Given the description of an element on the screen output the (x, y) to click on. 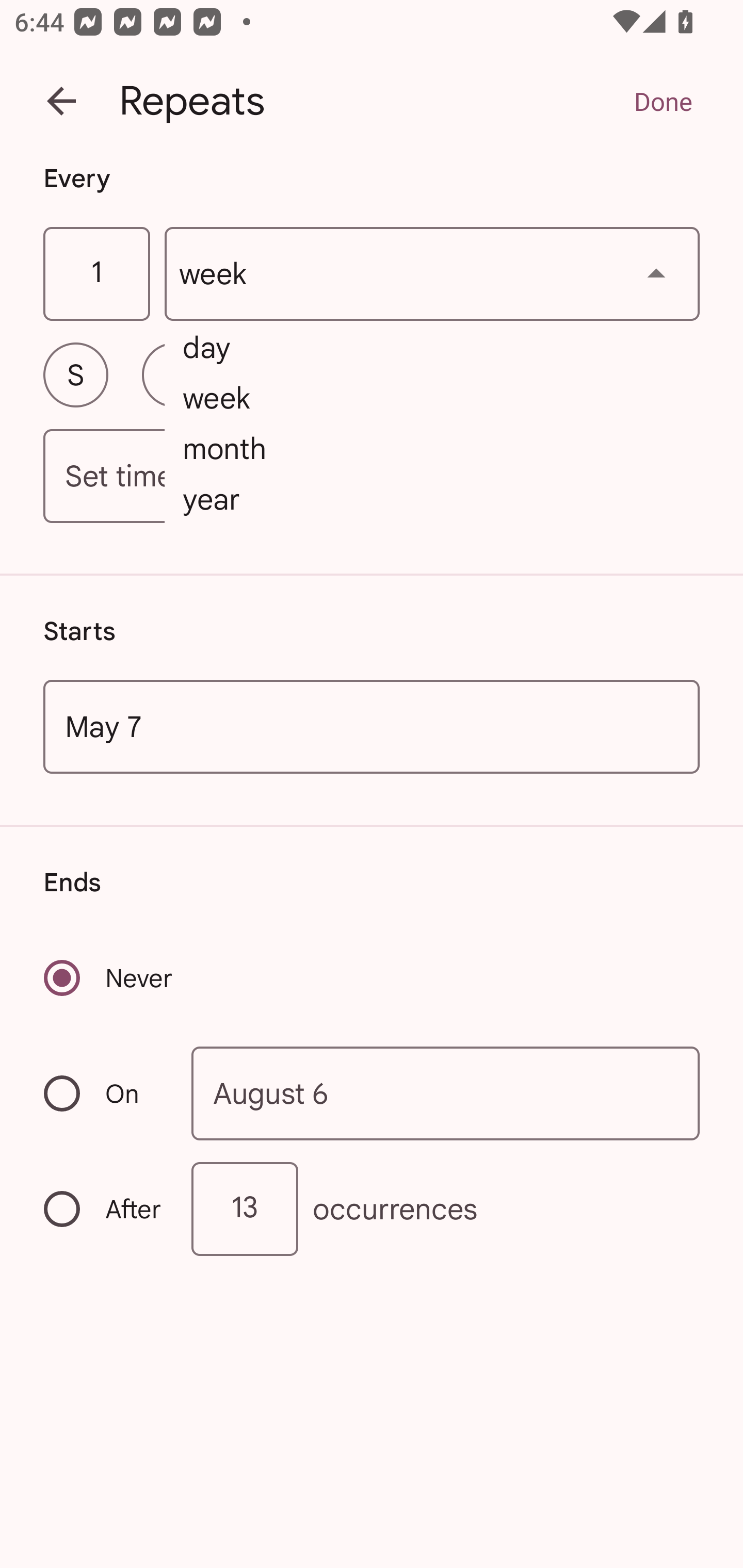
Back (61, 101)
Done (663, 101)
1 (96, 274)
week (431, 274)
Show dropdown menu (655, 273)
S Sunday (75, 374)
Set time (371, 476)
May 7 (371, 726)
Never Recurrence never ends (109, 978)
August 6 (445, 1092)
On Recurrence ends on a specific date (104, 1093)
13 (244, 1208)
